Given the description of an element on the screen output the (x, y) to click on. 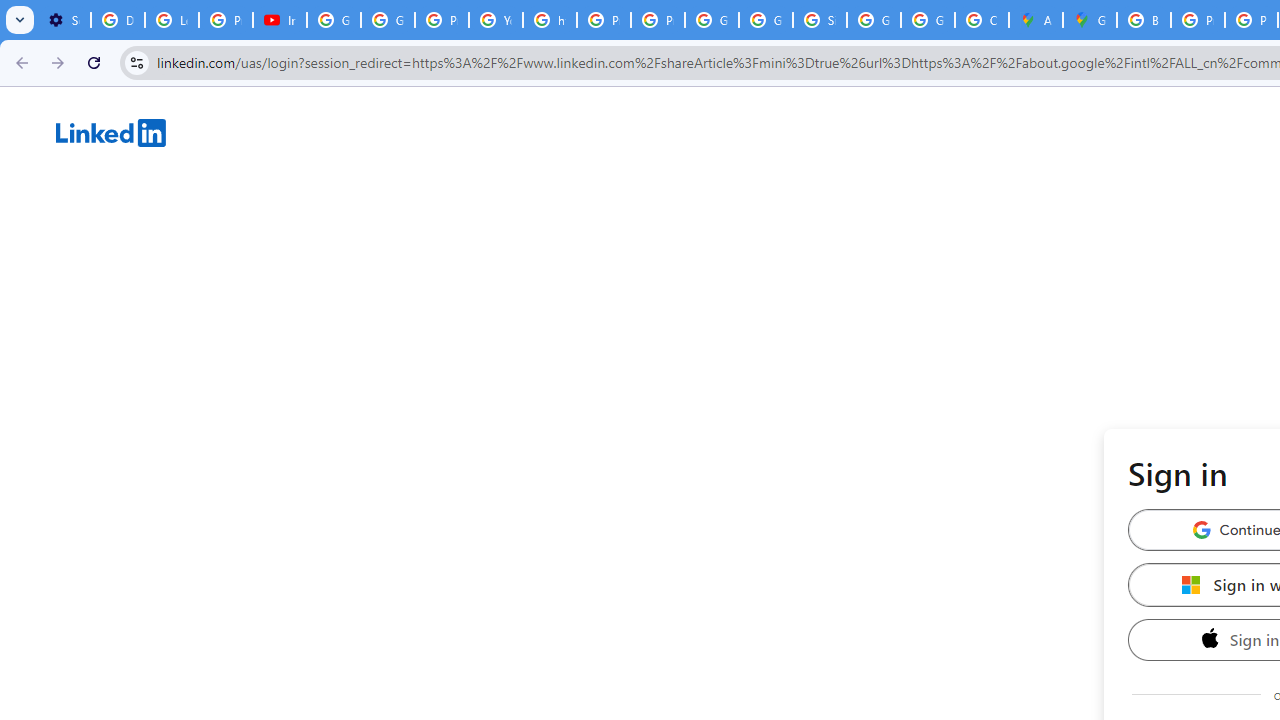
Blogger Policies and Guidelines - Transparency Center (1144, 20)
Privacy Help Center - Policies Help (441, 20)
Google Maps (1089, 20)
Privacy Help Center - Policies Help (1197, 20)
https://scholar.google.com/ (550, 20)
Introduction | Google Privacy Policy - YouTube (280, 20)
AutomationID: linkedin-logo (111, 132)
Learn how to find your photos - Google Photos Help (171, 20)
